Given the description of an element on the screen output the (x, y) to click on. 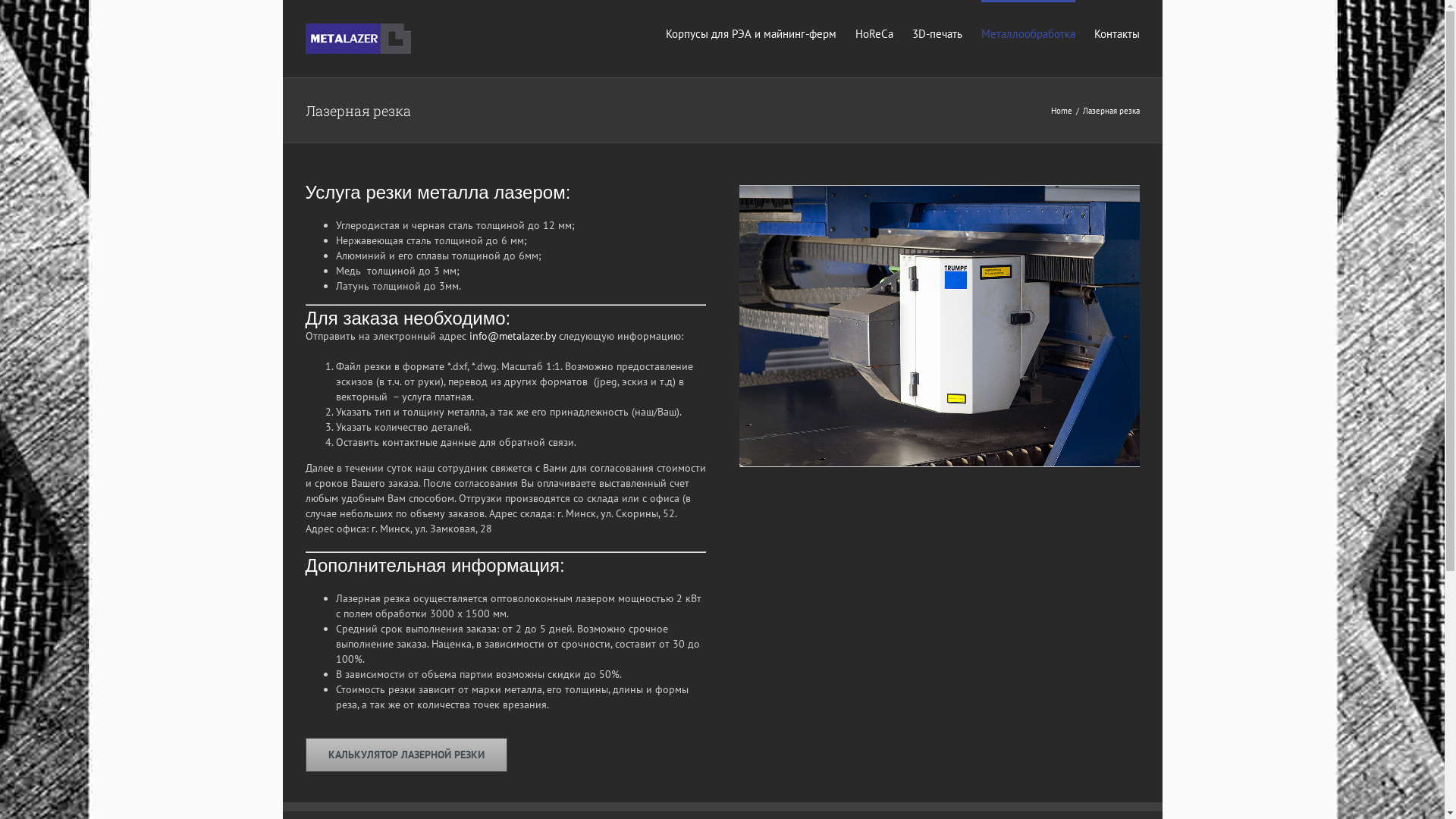
HoReCa Element type: text (874, 32)
Home Element type: text (1061, 109)
info@metalazer.by Element type: text (513, 335)
